Given the description of an element on the screen output the (x, y) to click on. 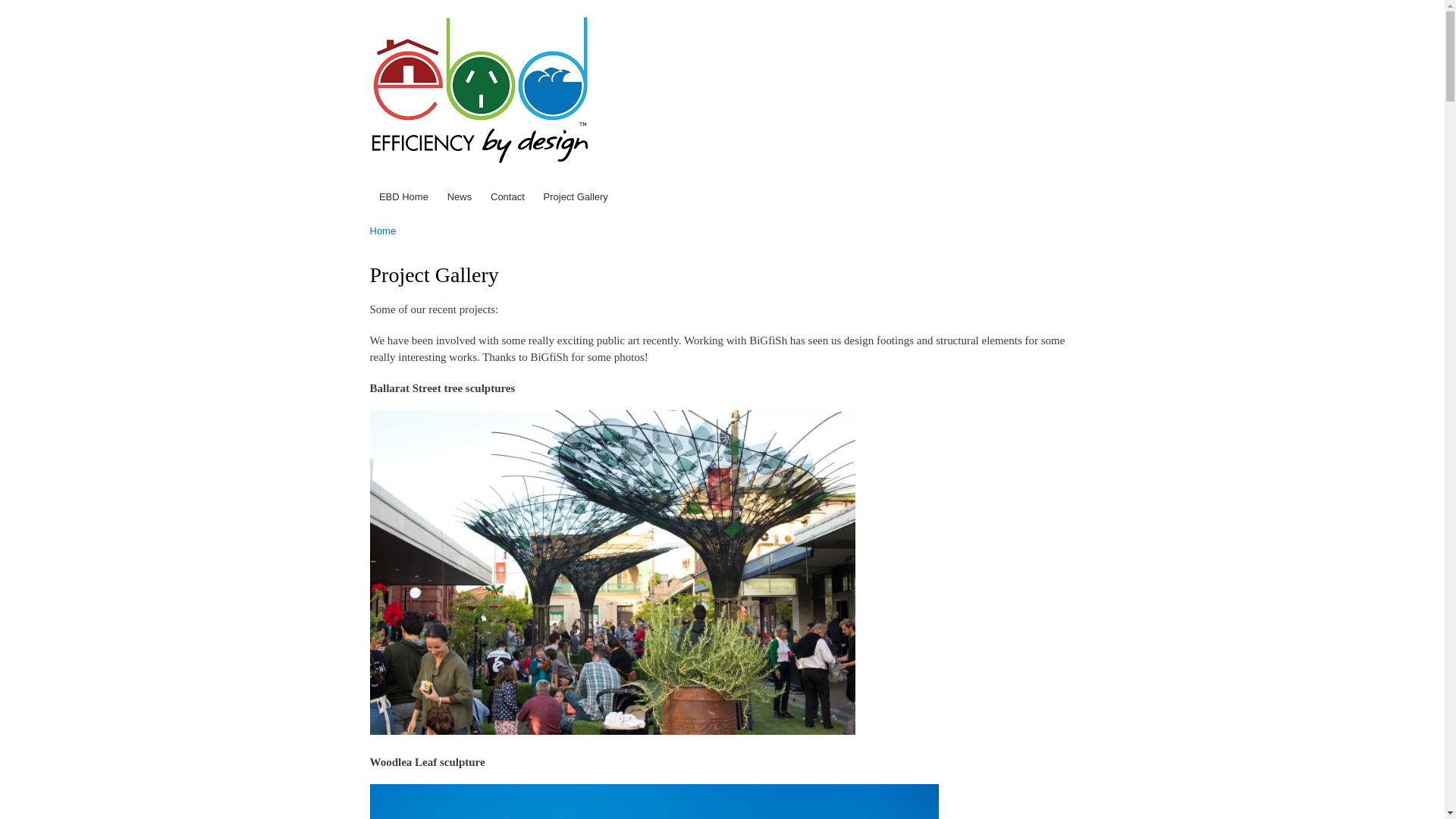
Home Element type: hover (480, 92)
Home Element type: text (383, 230)
Contact Element type: text (508, 196)
News Element type: text (459, 196)
Project Gallery Element type: text (575, 196)
EBD Home Element type: text (403, 196)
Skip to main content Element type: text (690, 1)
